Given the description of an element on the screen output the (x, y) to click on. 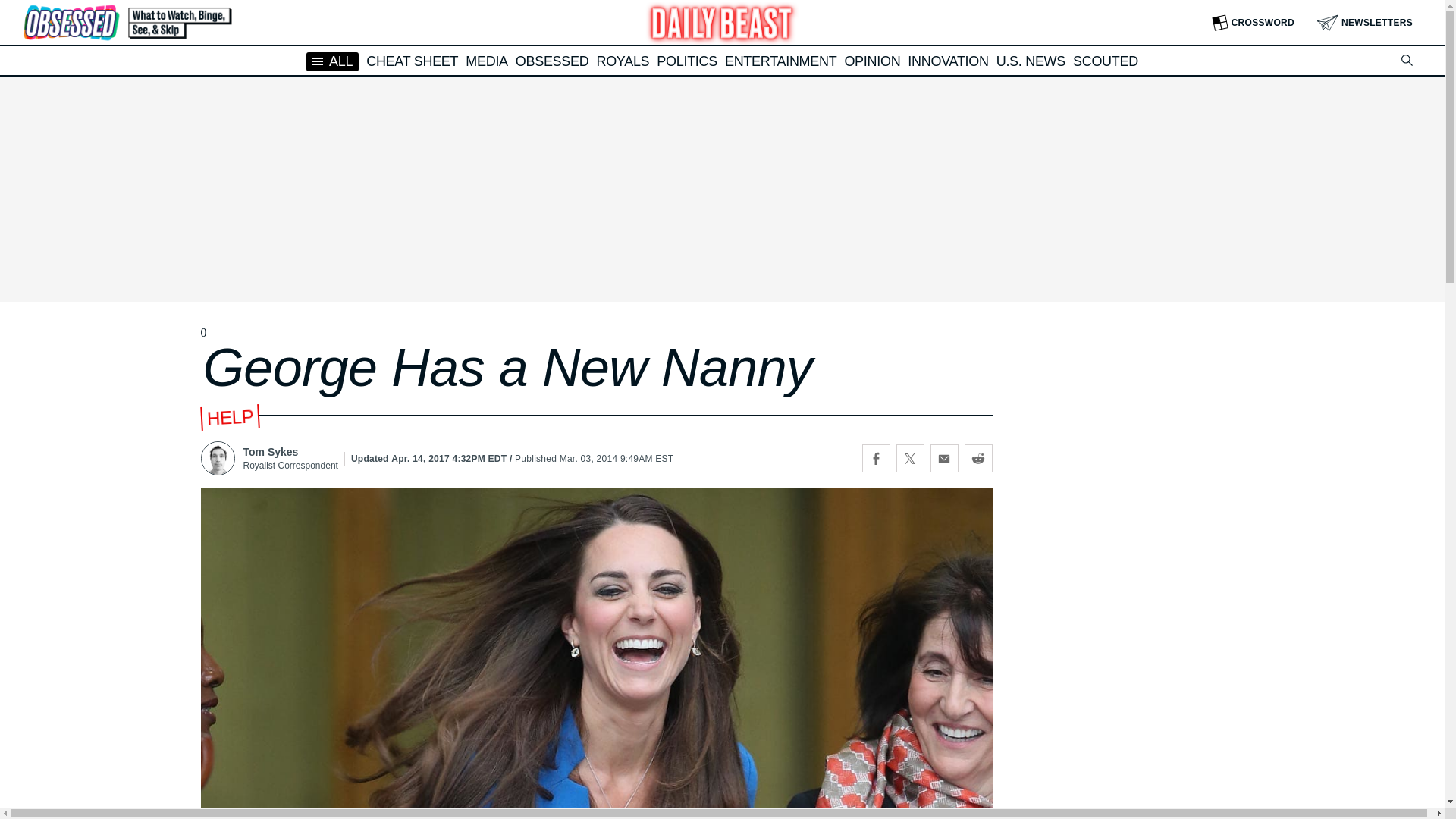
CHEAT SHEET (412, 60)
SCOUTED (1105, 60)
NEWSLETTERS (1364, 22)
POLITICS (686, 60)
MEDIA (486, 60)
ROYALS (622, 60)
U.S. NEWS (1030, 60)
OBSESSED (552, 60)
OPINION (871, 60)
CROSSWORD (1252, 22)
